Given the description of an element on the screen output the (x, y) to click on. 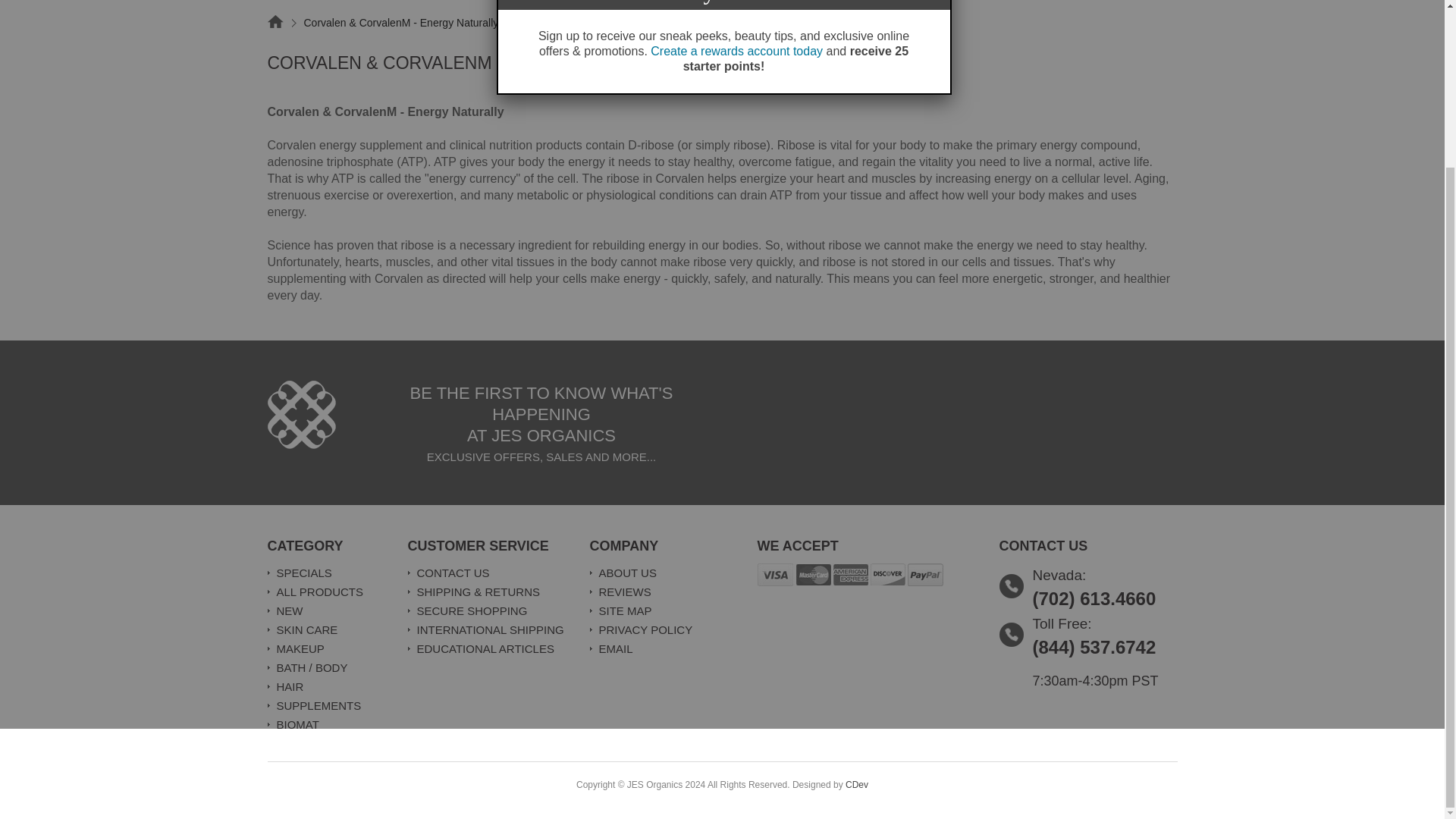
Jescollection.com (300, 414)
Payment (850, 574)
